Given the description of an element on the screen output the (x, y) to click on. 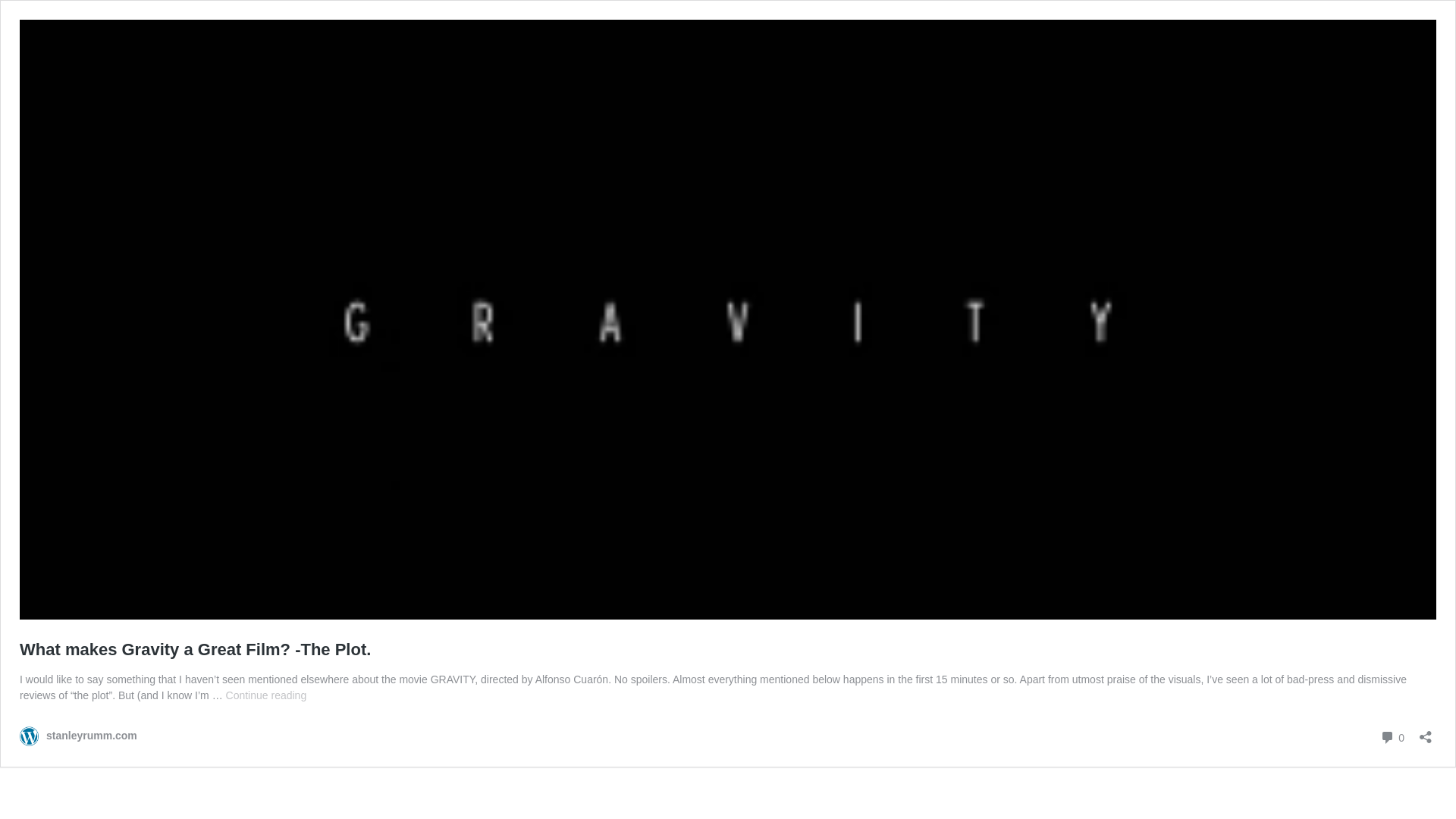
What makes Gravity a Great Film? -The Plot. (195, 649)
stanleyrumm.com (1392, 736)
